Given the description of an element on the screen output the (x, y) to click on. 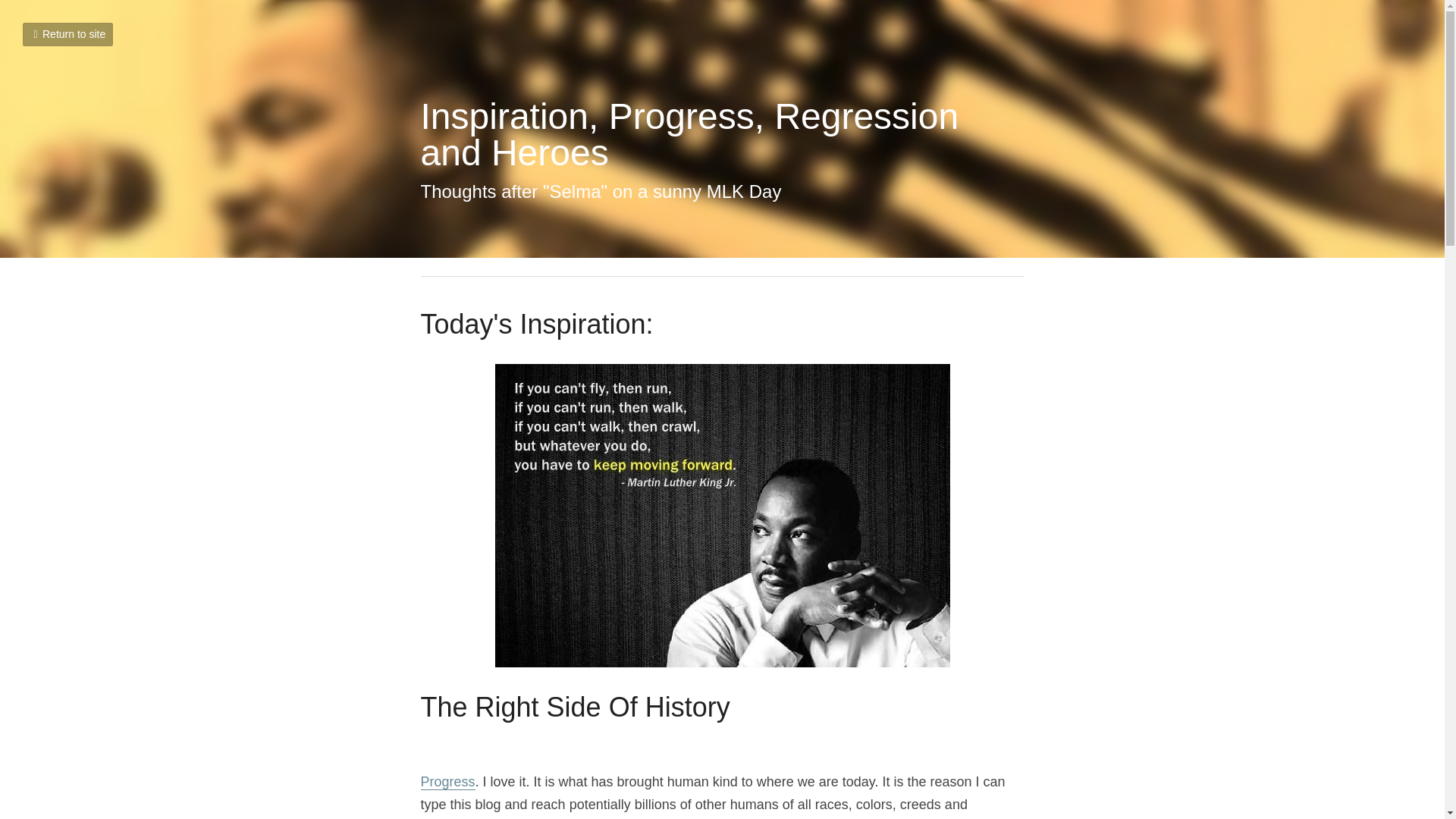
Return to site (68, 33)
Progress (447, 781)
